Given the description of an element on the screen output the (x, y) to click on. 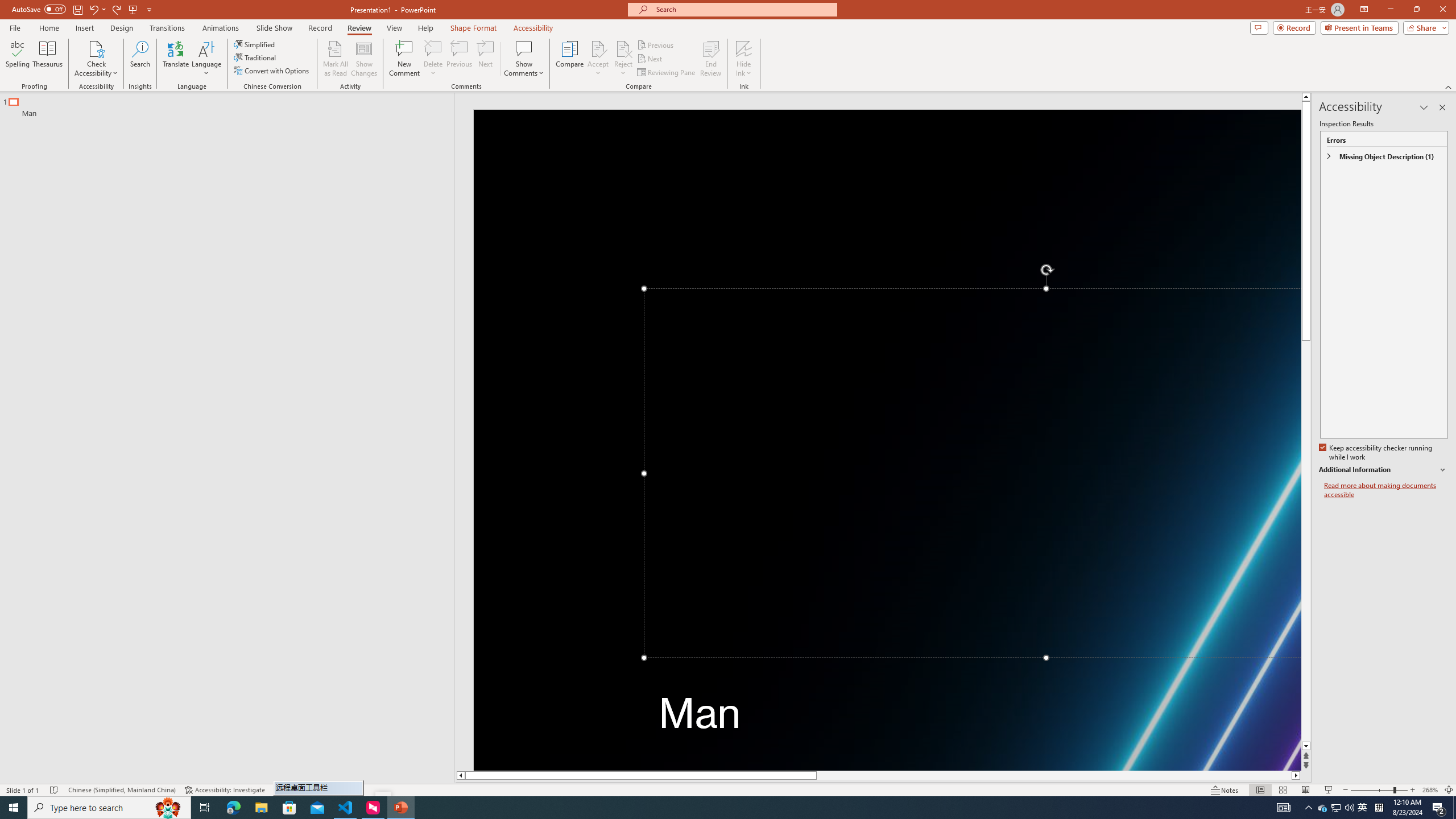
End Review (710, 58)
Thesaurus... (47, 58)
New Comment (403, 58)
Neon laser lights aligned to form a triangle (887, 439)
